Given the description of an element on the screen output the (x, y) to click on. 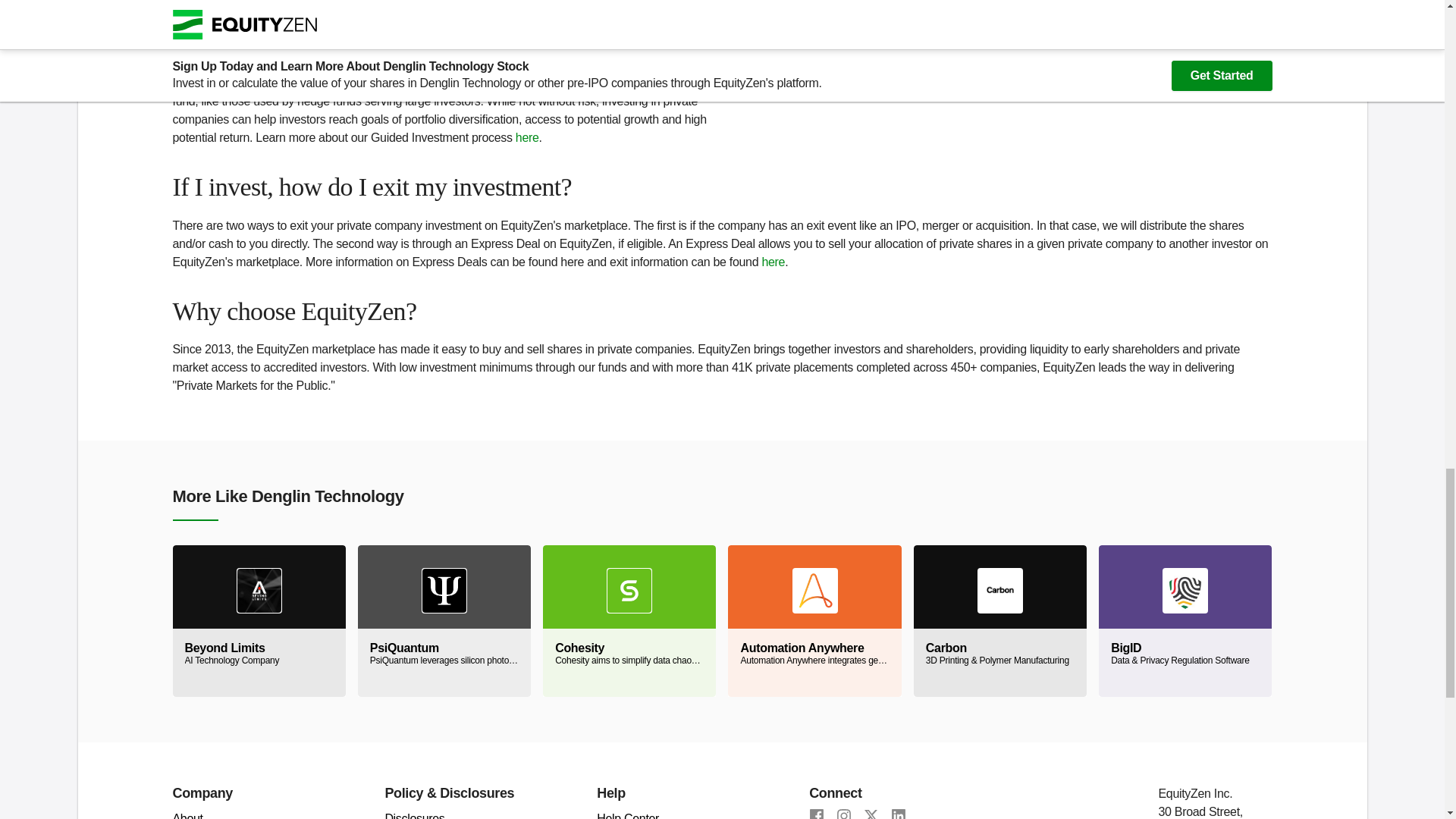
Help Center (627, 815)
here (526, 137)
Help Center (627, 815)
Disclosures (259, 620)
here (414, 815)
About (1145, 64)
Disclosures (188, 815)
here (414, 815)
